Given the description of an element on the screen output the (x, y) to click on. 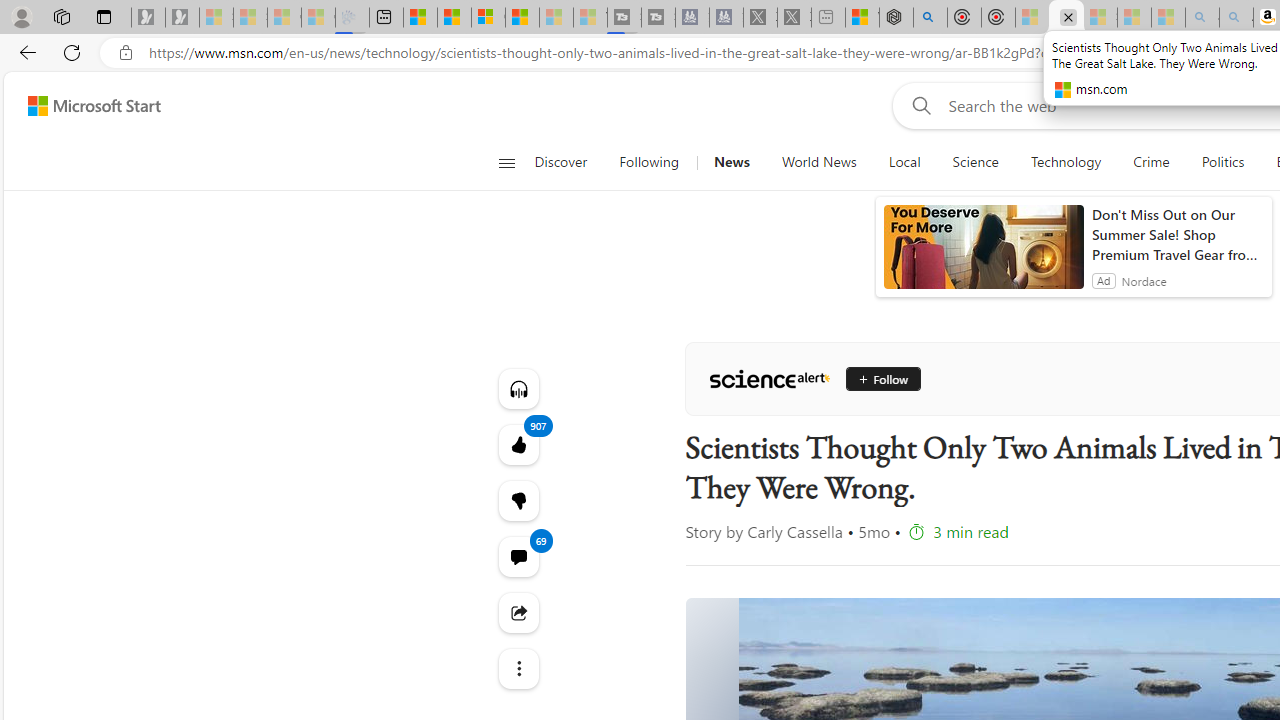
Local (903, 162)
Science (975, 162)
Follow (882, 378)
Crime (1151, 162)
Web search (917, 105)
Skip to footer (82, 105)
Local (904, 162)
